Given the description of an element on the screen output the (x, y) to click on. 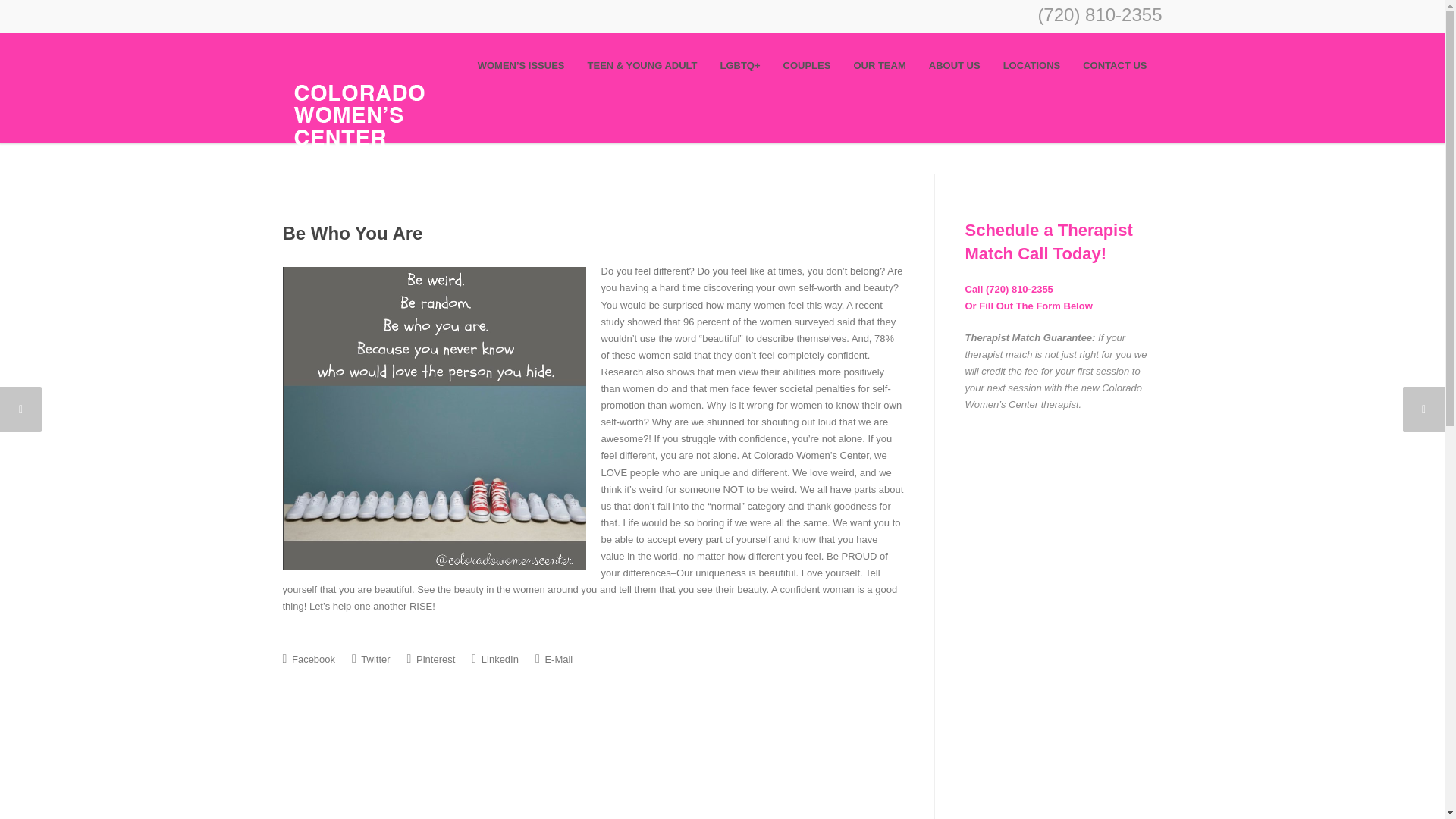
Permalink to Be Who You Are (352, 232)
Share via E-Mail (553, 658)
Share via LinkedIn (494, 658)
ABOUT US (954, 65)
Share via Facebook (308, 658)
OUR TEAM (879, 65)
Share via Pinterest (431, 658)
Share via Twitter (371, 658)
COUPLES (807, 65)
